Given the description of an element on the screen output the (x, y) to click on. 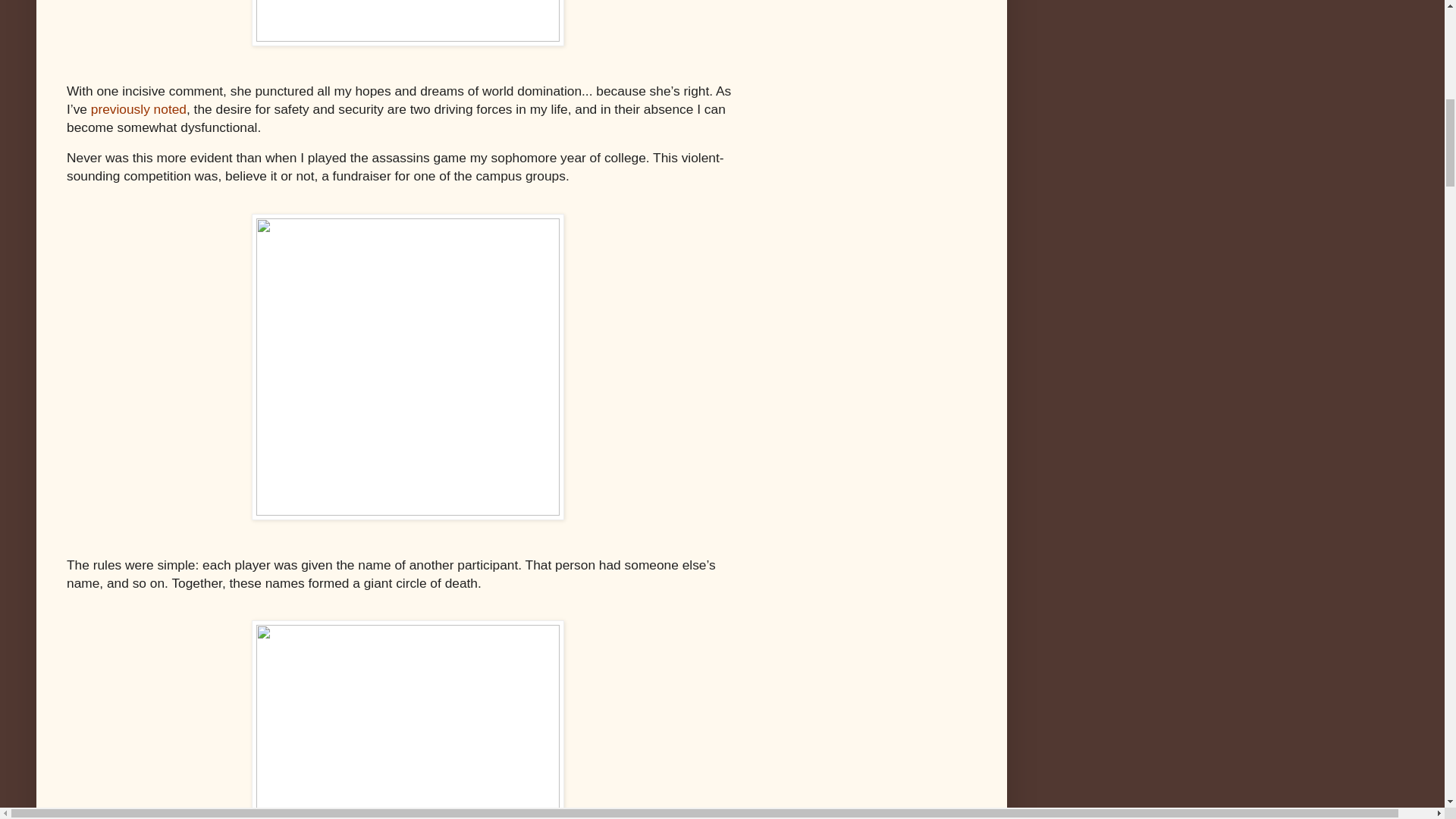
previously noted (138, 109)
